Given the description of an element on the screen output the (x, y) to click on. 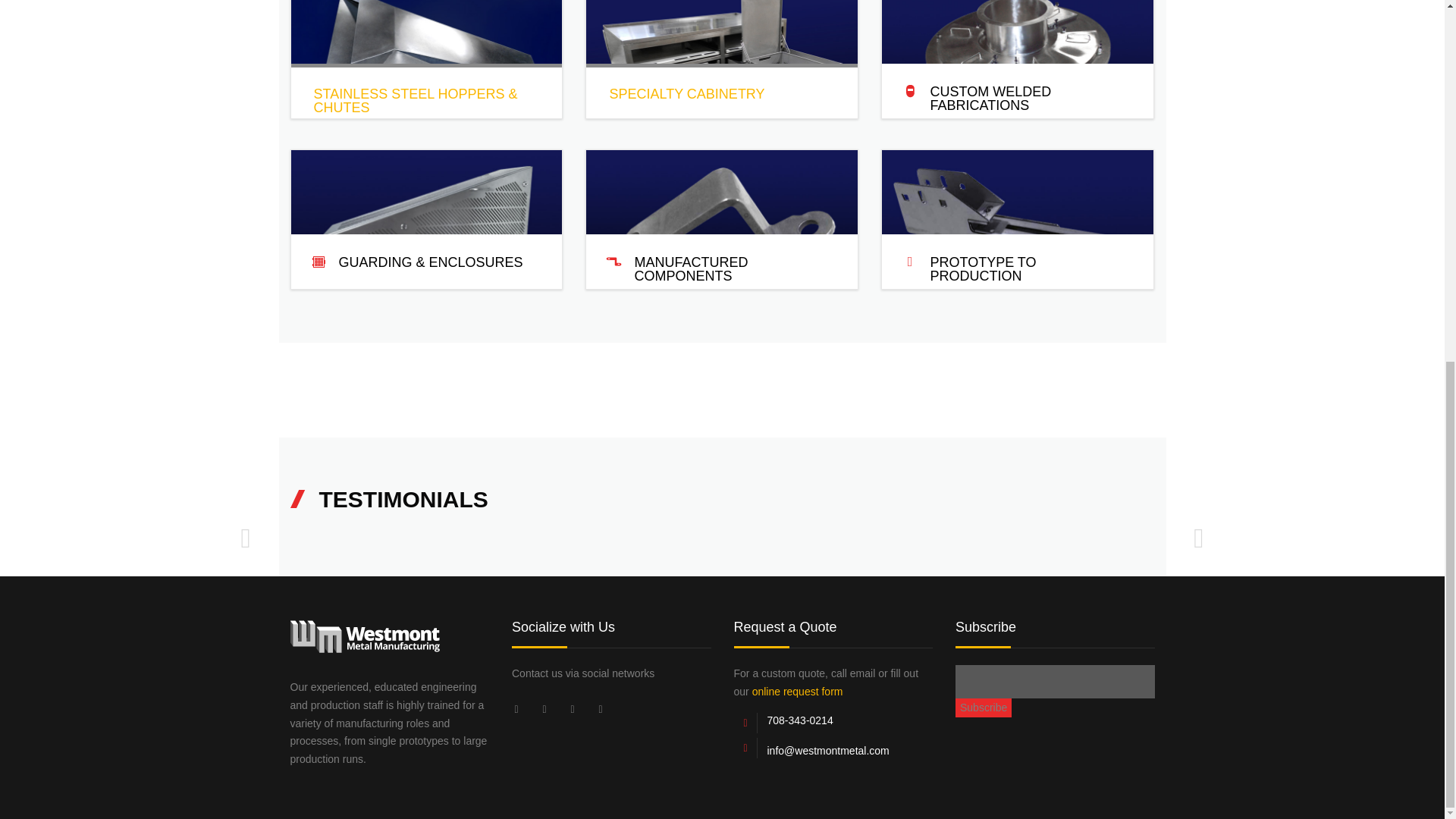
MANUFACTURED COMPONENTS (690, 268)
Subscribe (983, 707)
SPECIALTY CABINETRY (686, 93)
